Given the description of an element on the screen output the (x, y) to click on. 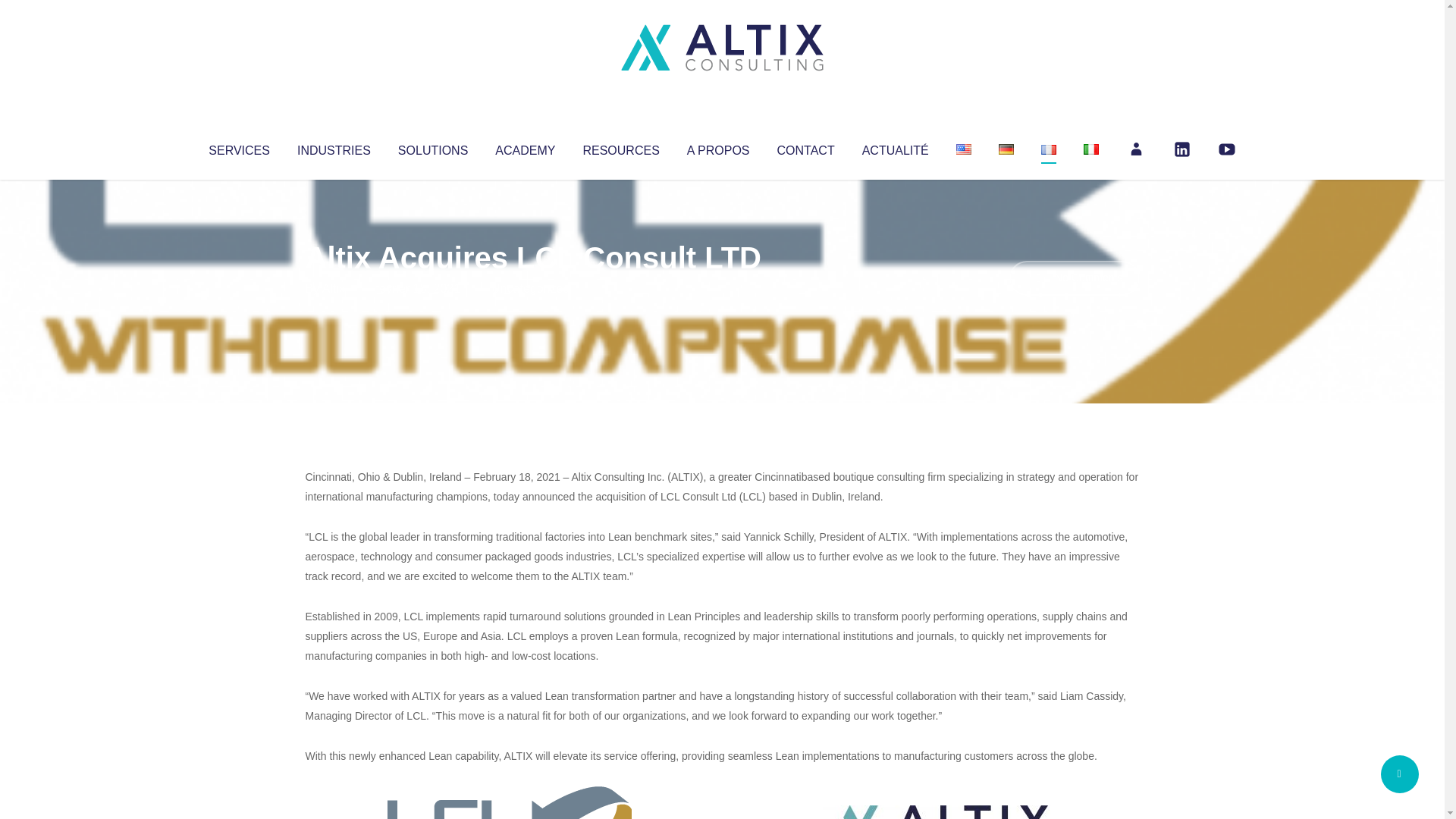
ACADEMY (524, 146)
Altix (333, 287)
RESOURCES (620, 146)
Articles par Altix (333, 287)
INDUSTRIES (334, 146)
SERVICES (238, 146)
SOLUTIONS (432, 146)
No Comments (1073, 278)
Uncategorized (530, 287)
A PROPOS (718, 146)
